Given the description of an element on the screen output the (x, y) to click on. 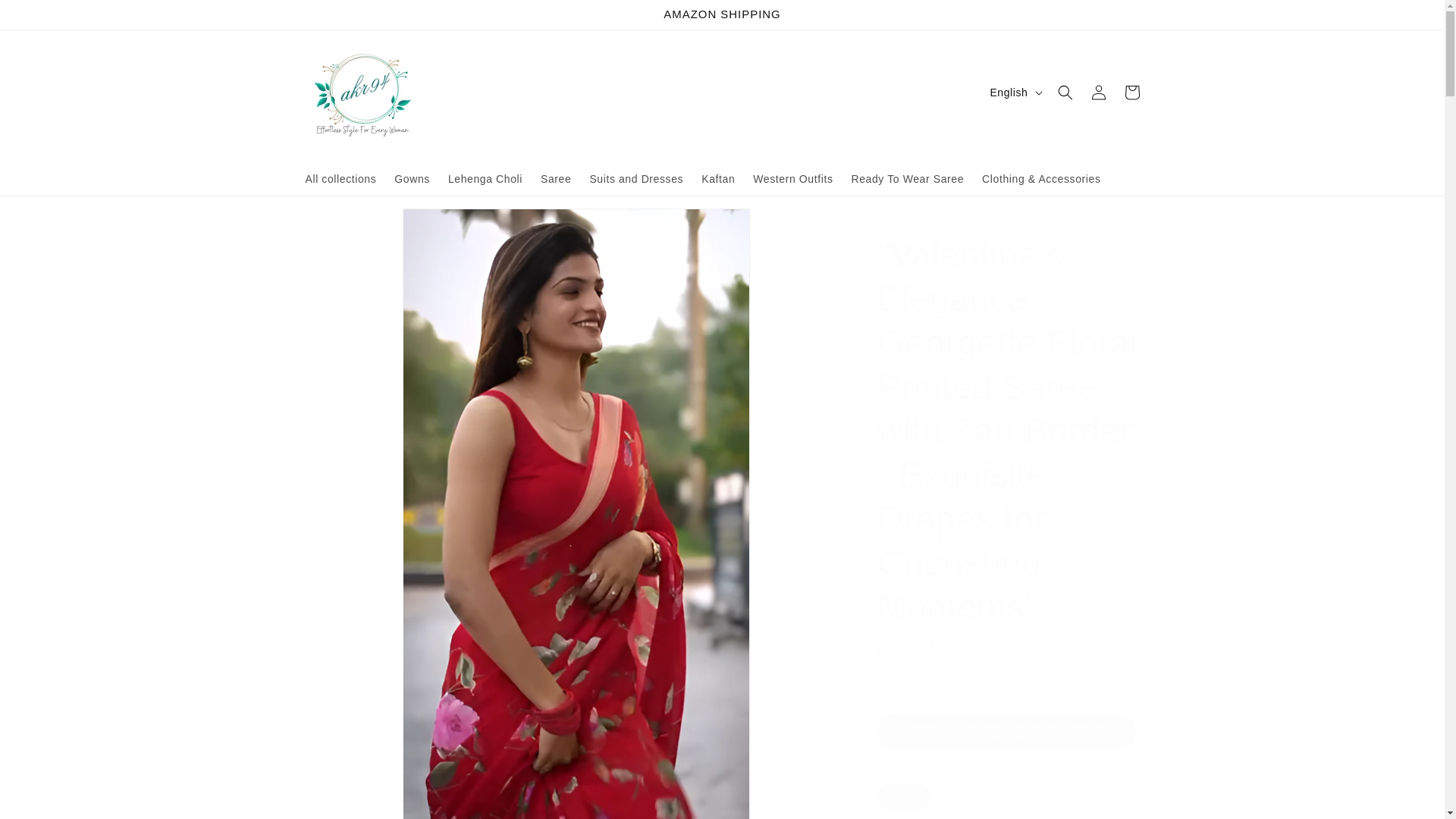
Kaftan (718, 178)
Lehenga Choli (485, 178)
Ready To Wear Saree (906, 178)
English (1013, 92)
Skip to content (45, 17)
Suits and Dresses (636, 178)
